Given the description of an element on the screen output the (x, y) to click on. 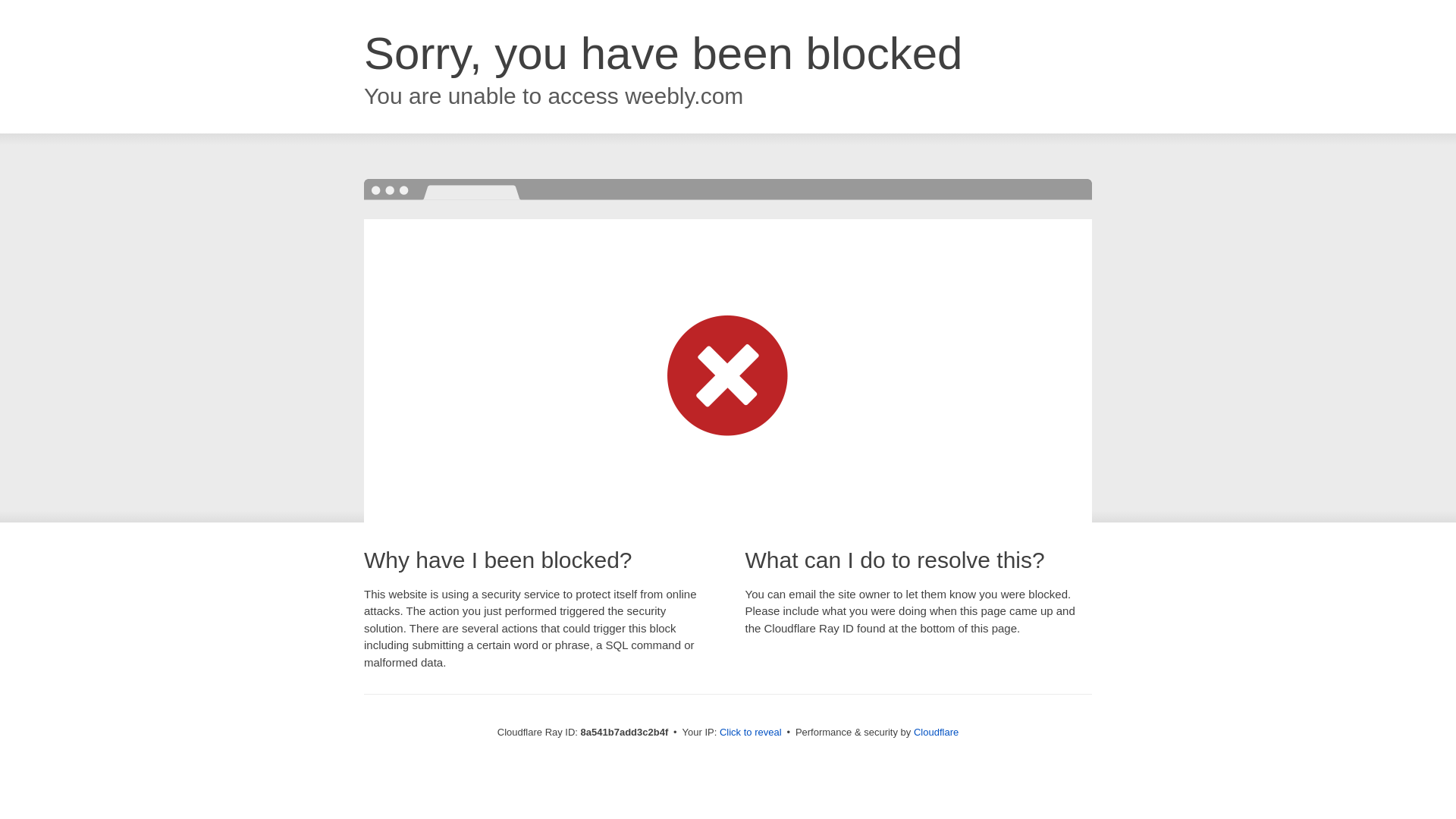
Cloudflare (936, 731)
Click to reveal (750, 732)
